Given the description of an element on the screen output the (x, y) to click on. 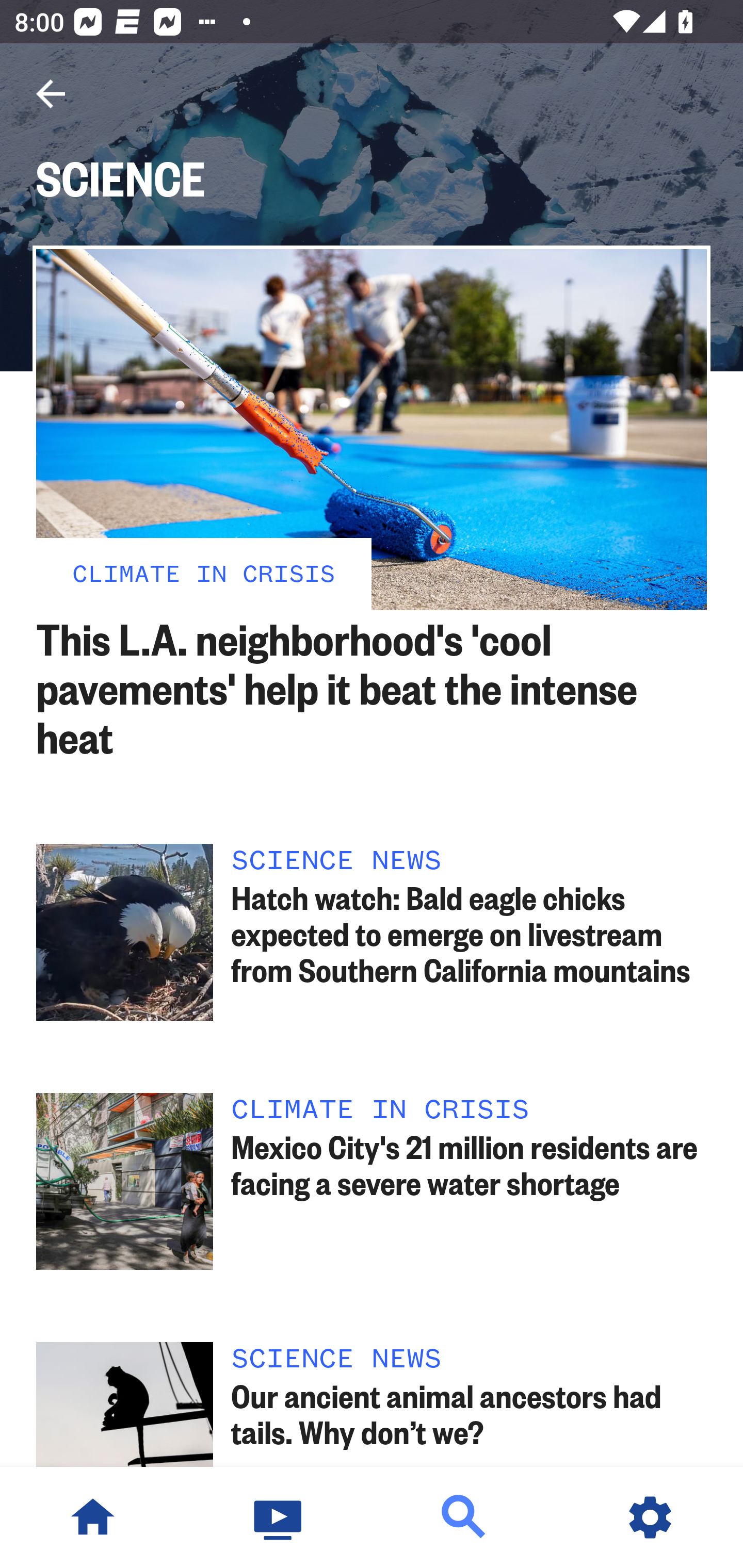
Navigate up (50, 93)
NBC News Home (92, 1517)
Watch (278, 1517)
Settings (650, 1517)
